Given the description of an element on the screen output the (x, y) to click on. 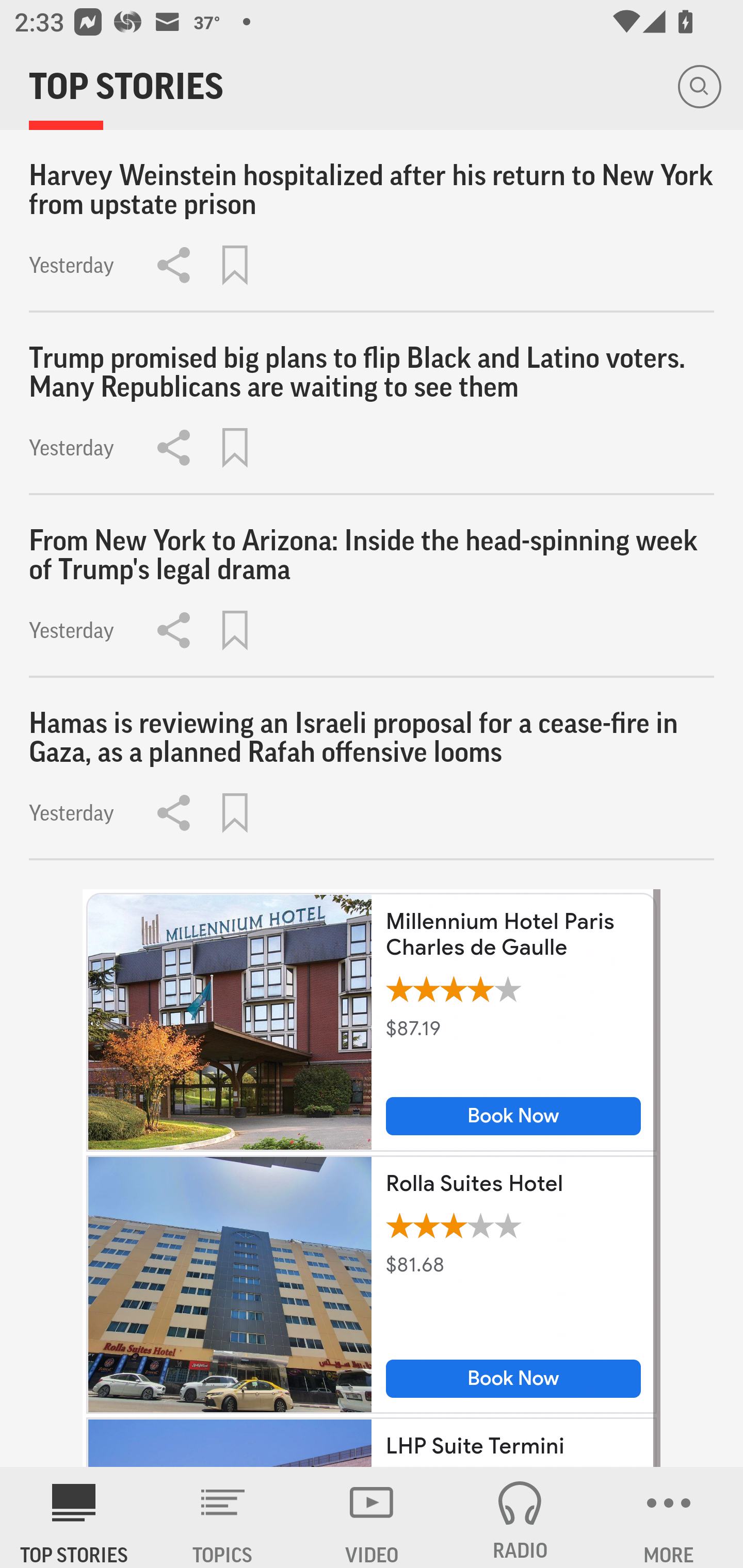
AP News TOP STORIES (74, 1517)
TOPICS (222, 1517)
VIDEO (371, 1517)
RADIO (519, 1517)
MORE (668, 1517)
